Given the description of an element on the screen output the (x, y) to click on. 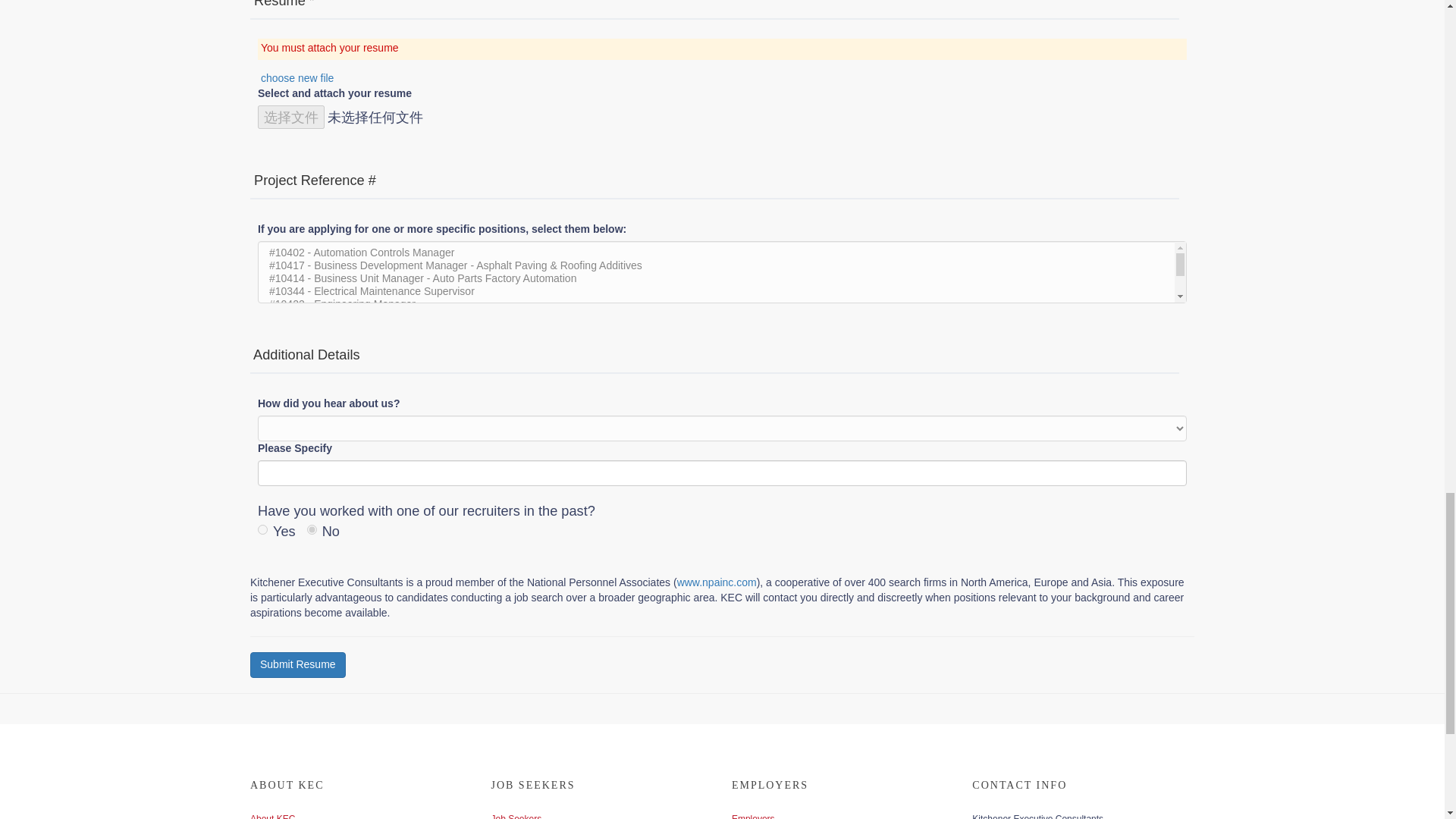
Submit Resume (298, 664)
About KEC (272, 816)
Job Seekers (515, 816)
www.npainc.com (717, 582)
Employers (753, 816)
choose new file (297, 78)
